Given the description of an element on the screen output the (x, y) to click on. 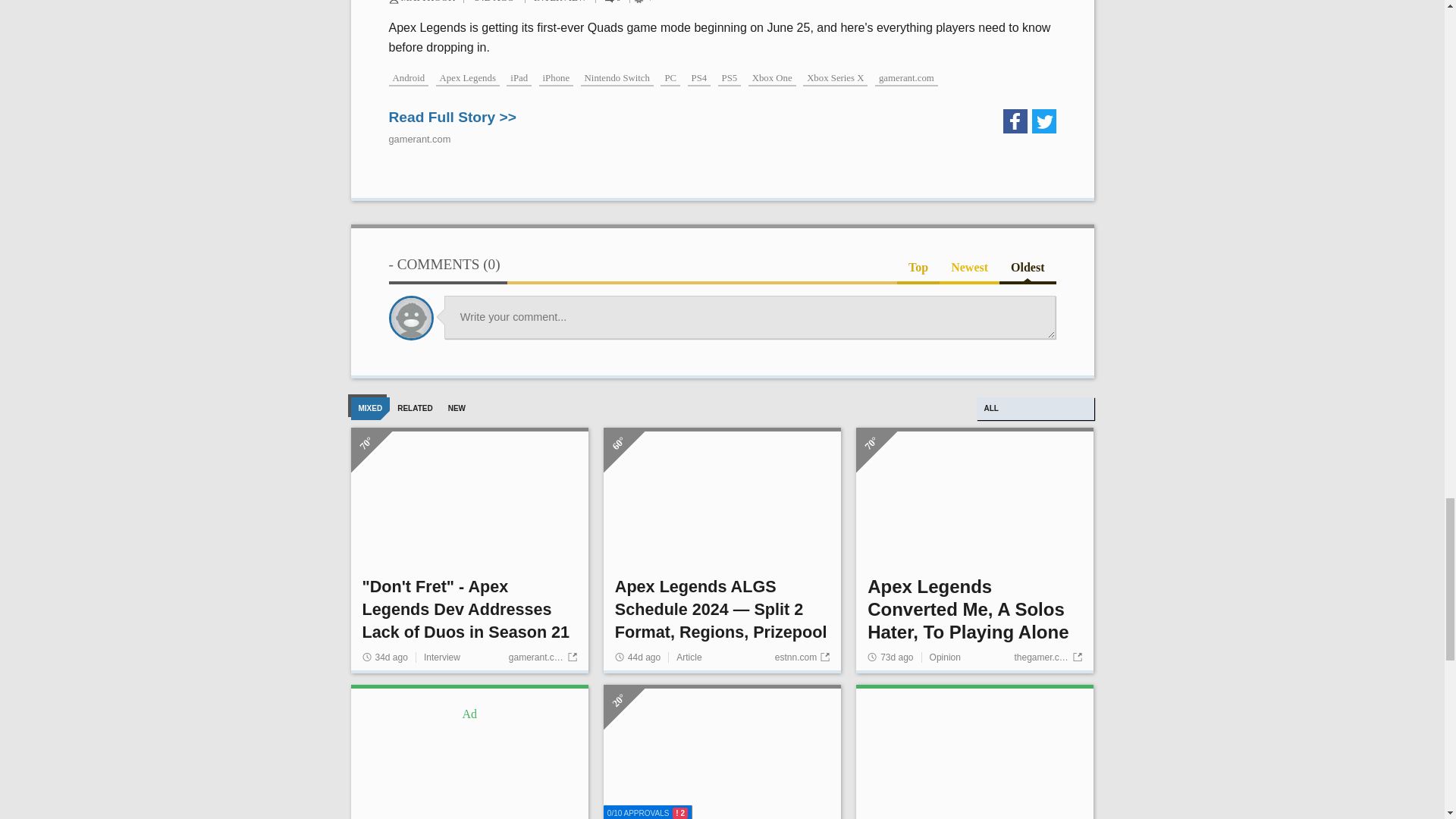
Go to source: thegamer.com (1047, 656)
Go to source: gamerant.com (542, 656)
Go to source: estnn.com (801, 656)
